Given the description of an element on the screen output the (x, y) to click on. 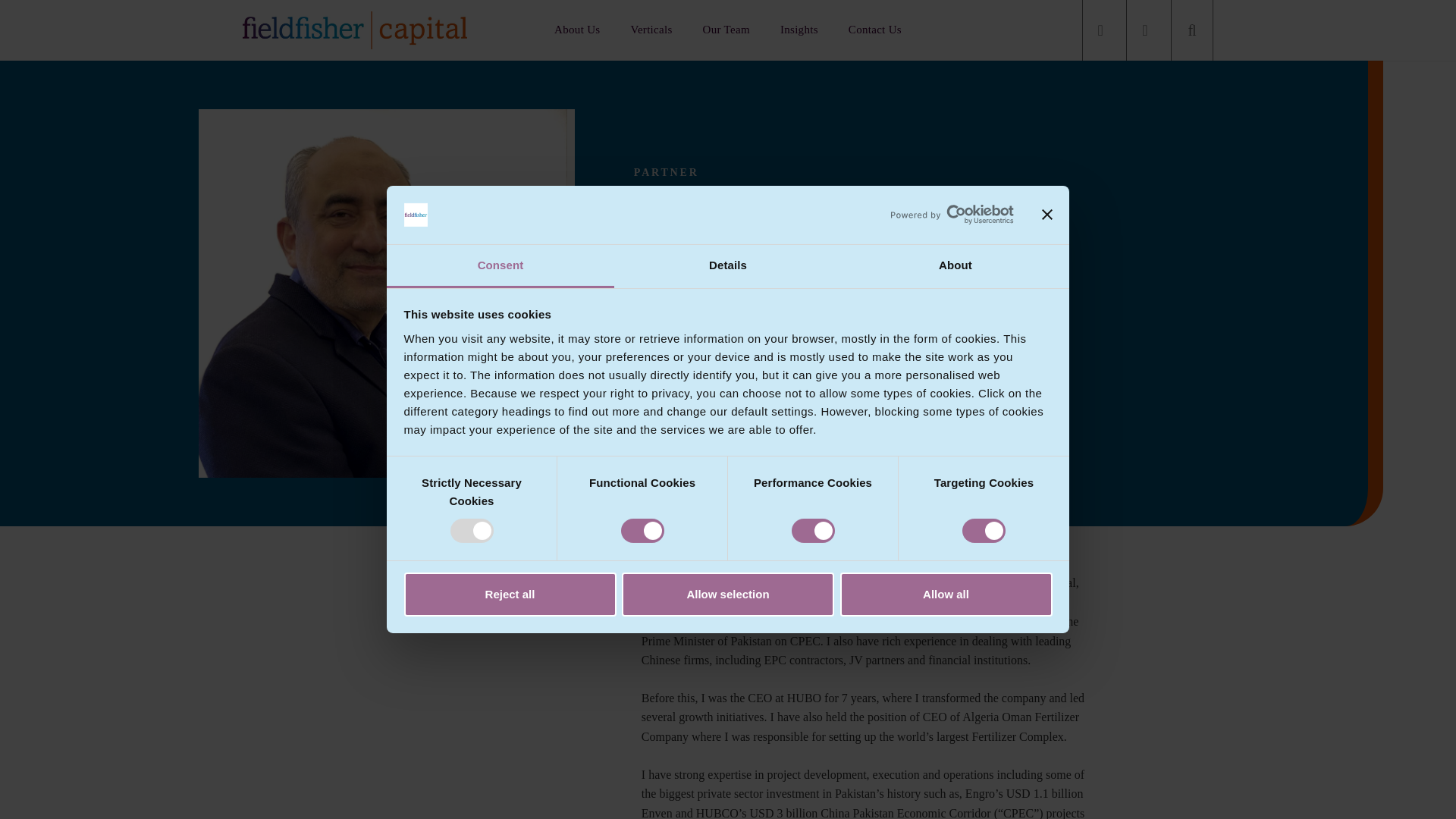
Consent (500, 266)
Our Team (726, 29)
Reject all (509, 594)
Verticals (650, 29)
About (954, 266)
About Us (576, 29)
Allow selection (727, 594)
Details (727, 266)
Allow all (946, 594)
